Given the description of an element on the screen output the (x, y) to click on. 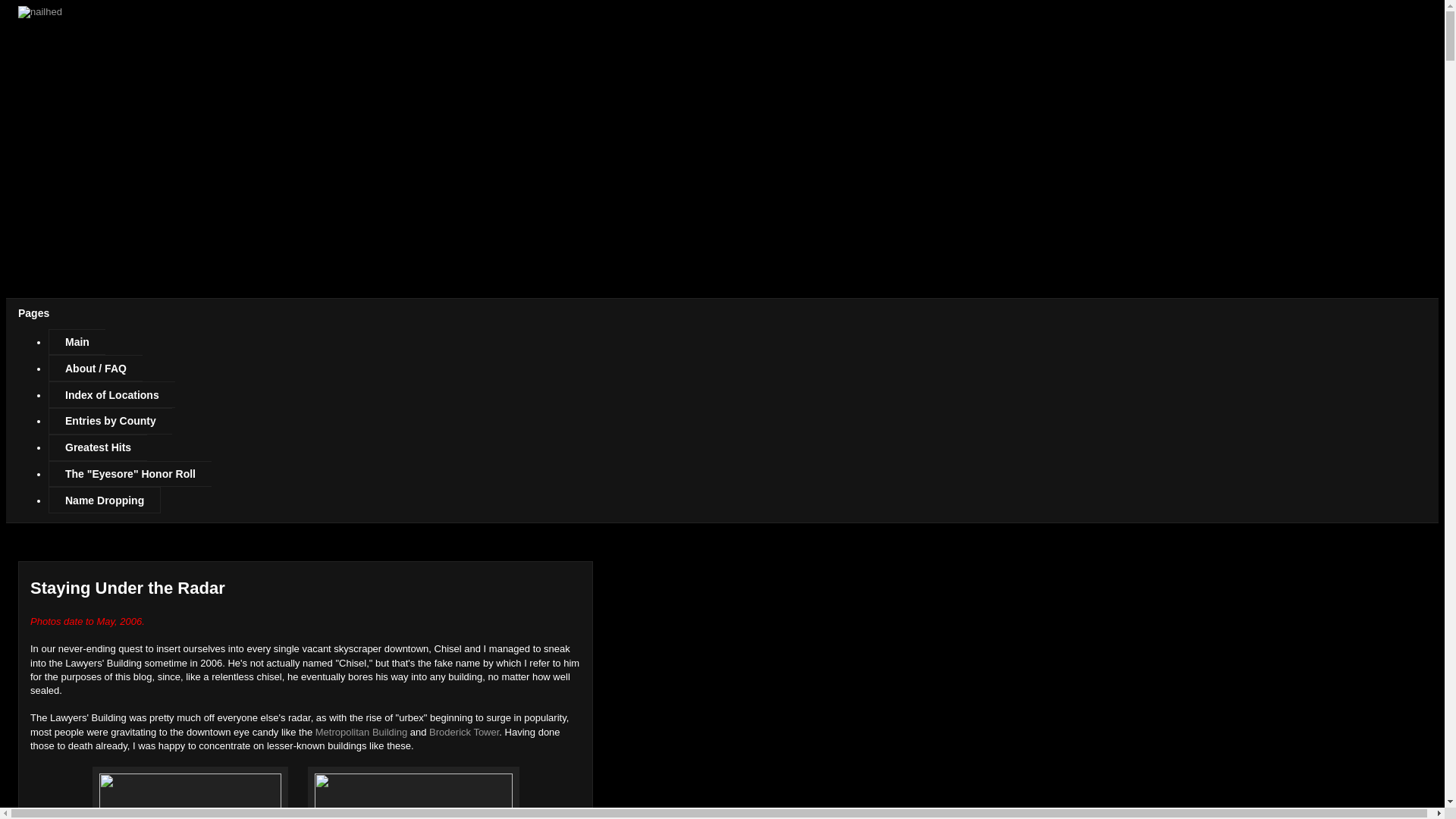
Broderick Tower (464, 731)
Name Dropping (104, 499)
Greatest Hits (97, 447)
Main (76, 342)
Entries by County (109, 420)
The "Eyesore" Honor Roll (129, 474)
Index of Locations (111, 394)
Metropolitan Building (361, 731)
